Given the description of an element on the screen output the (x, y) to click on. 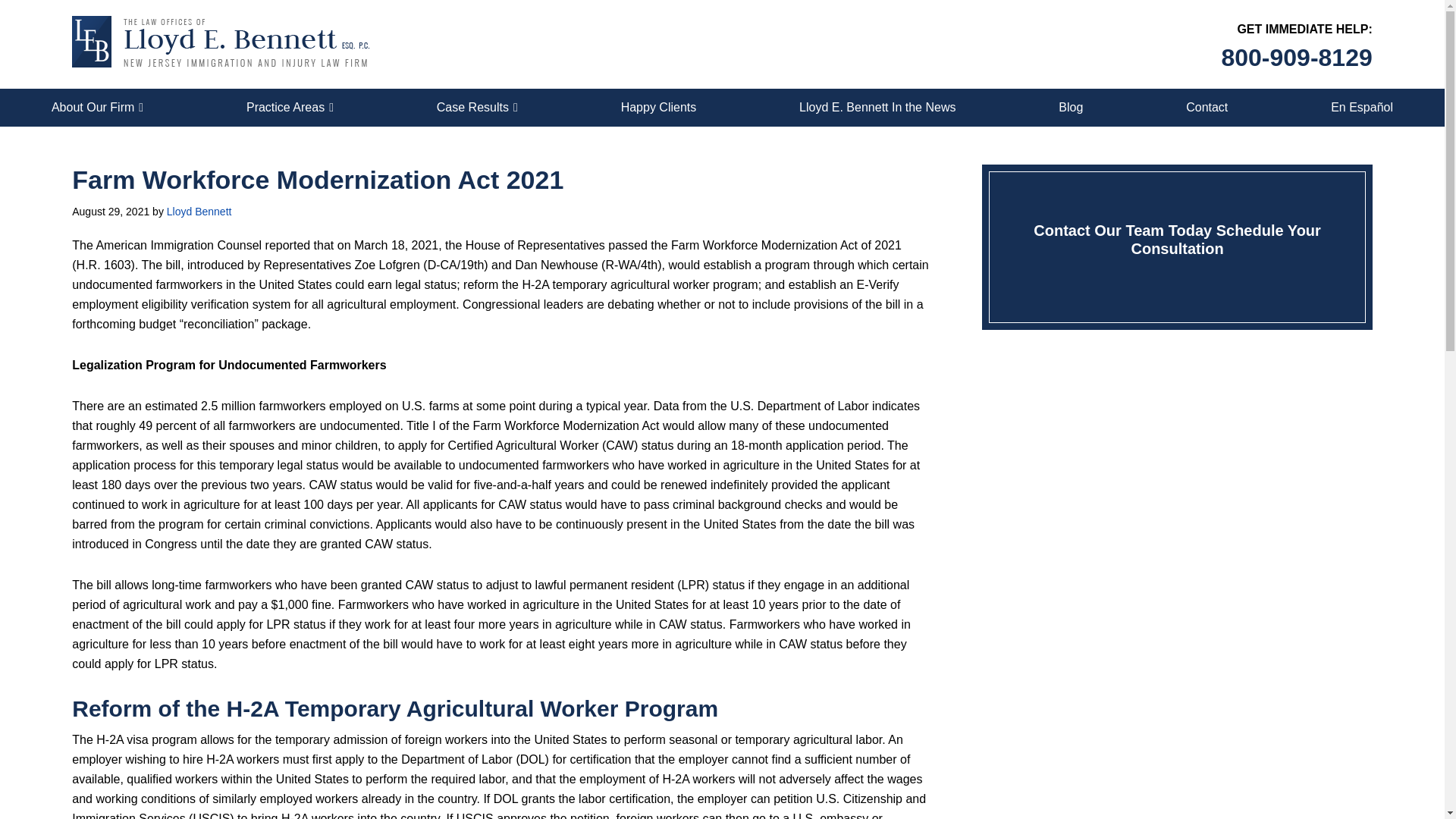
Lloyd E. Bennett In the News (877, 107)
Contact (1206, 107)
About Our Firm (97, 107)
Happy Clients (658, 107)
Case Results (477, 107)
800-909-8129 (1296, 57)
Practice Areas (290, 107)
Blog (1070, 107)
Lloyd Bennett (199, 211)
